Given the description of an element on the screen output the (x, y) to click on. 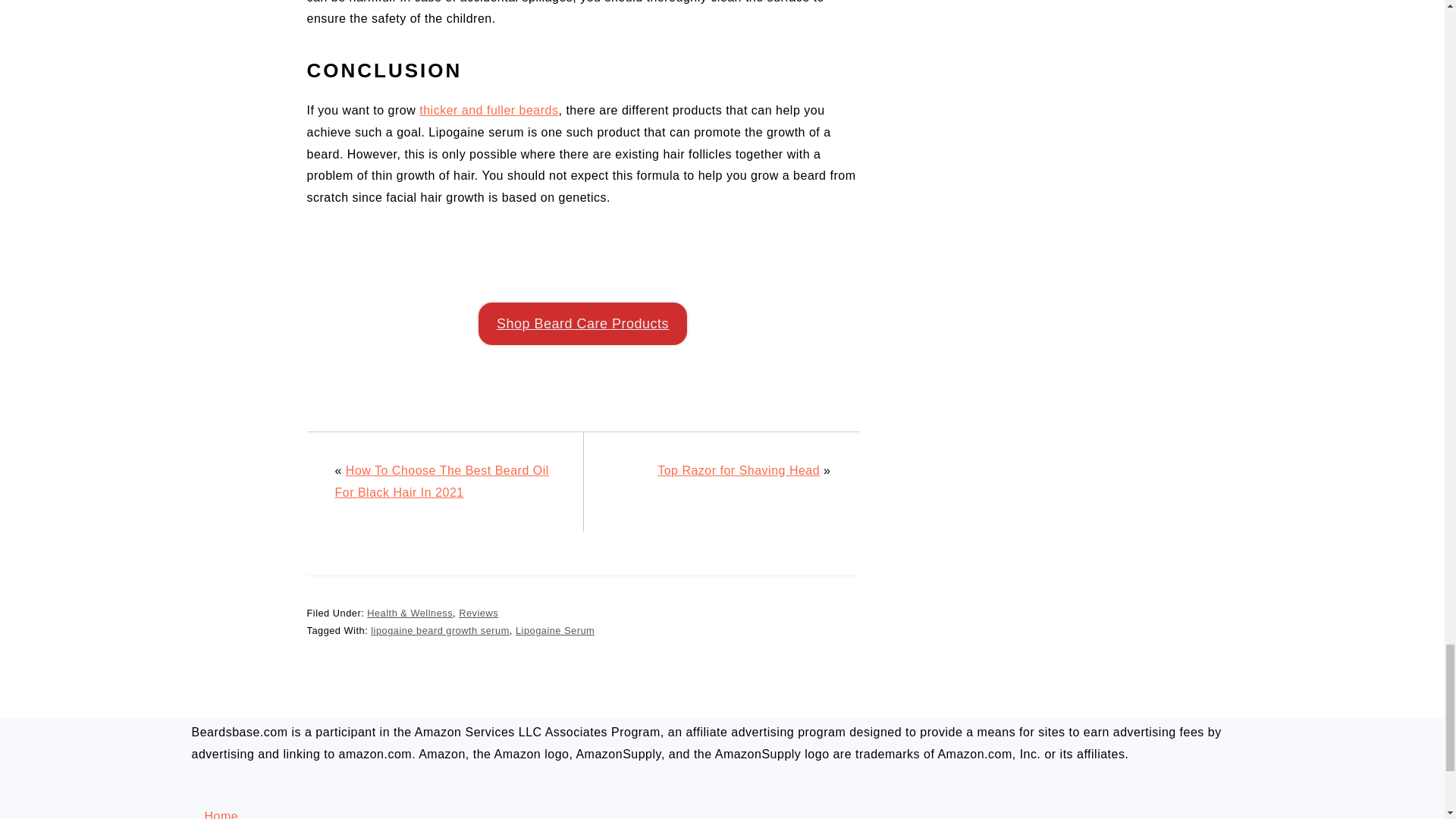
Shop Beard Care Products (582, 323)
Top Razor for Shaving Head (738, 470)
lipogaine beard growth serum (440, 630)
Lipogaine Serum (554, 630)
Reviews (477, 613)
How To Choose The Best Beard Oil For Black Hair In 2021 (441, 481)
thicker and fuller beards (488, 110)
